Given the description of an element on the screen output the (x, y) to click on. 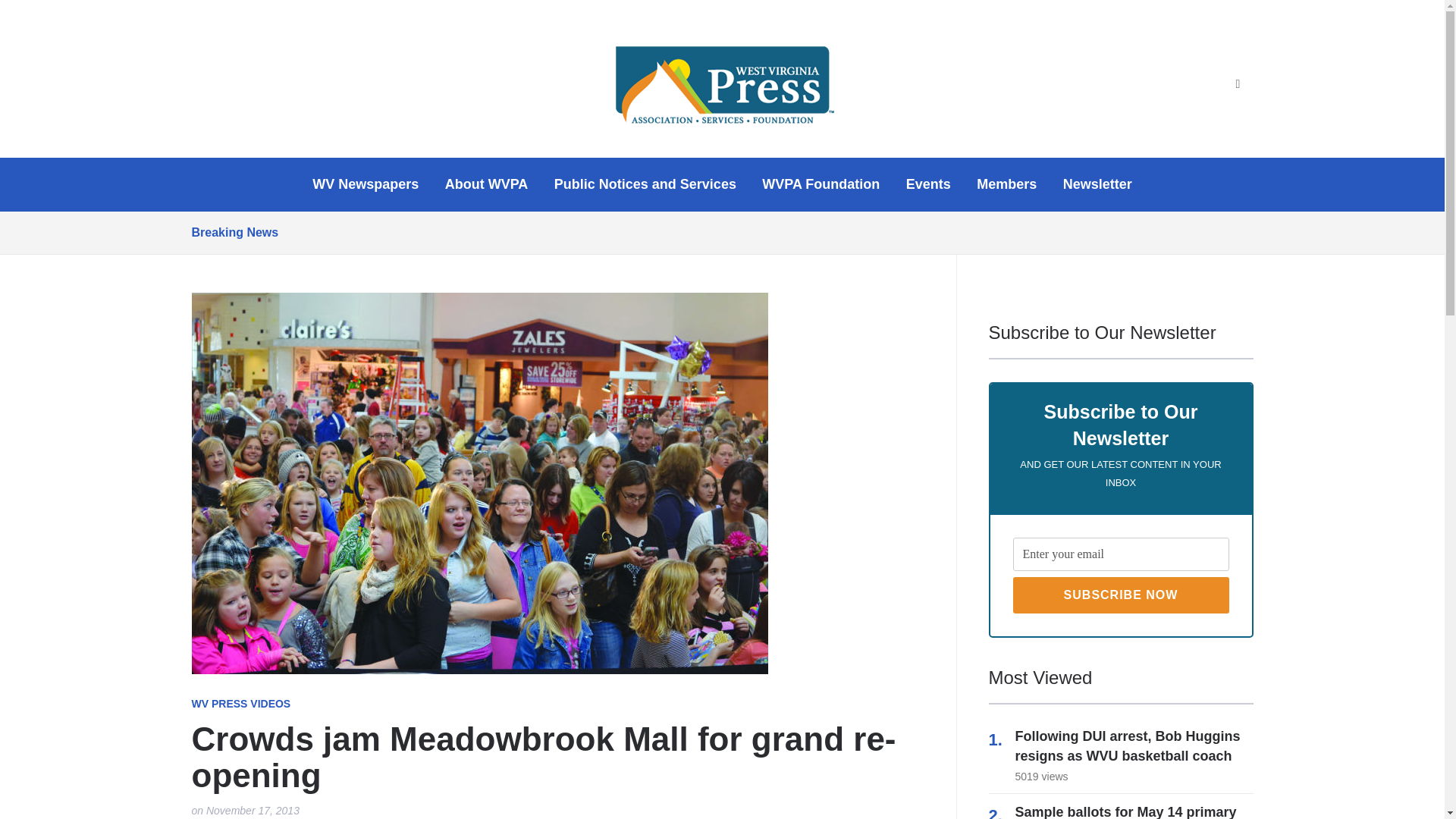
Subscribe Now (1120, 595)
Search (1237, 84)
Public Notices and Services (645, 184)
WV Newspapers (366, 184)
About WVPA (486, 184)
